Given the description of an element on the screen output the (x, y) to click on. 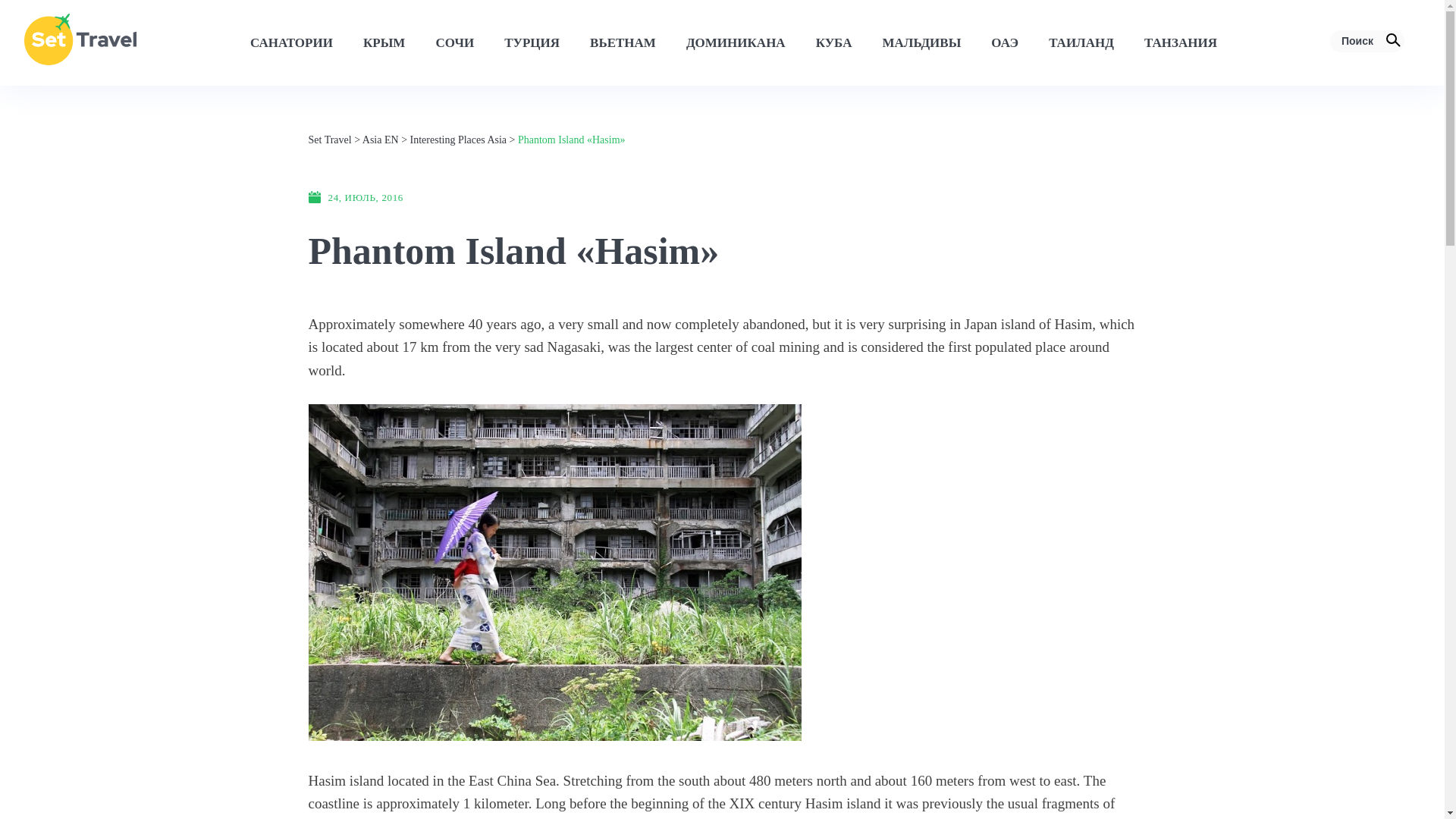
Set Travel (328, 139)
Asia EN (380, 139)
Interesting Places Asia (458, 139)
